Given the description of an element on the screen output the (x, y) to click on. 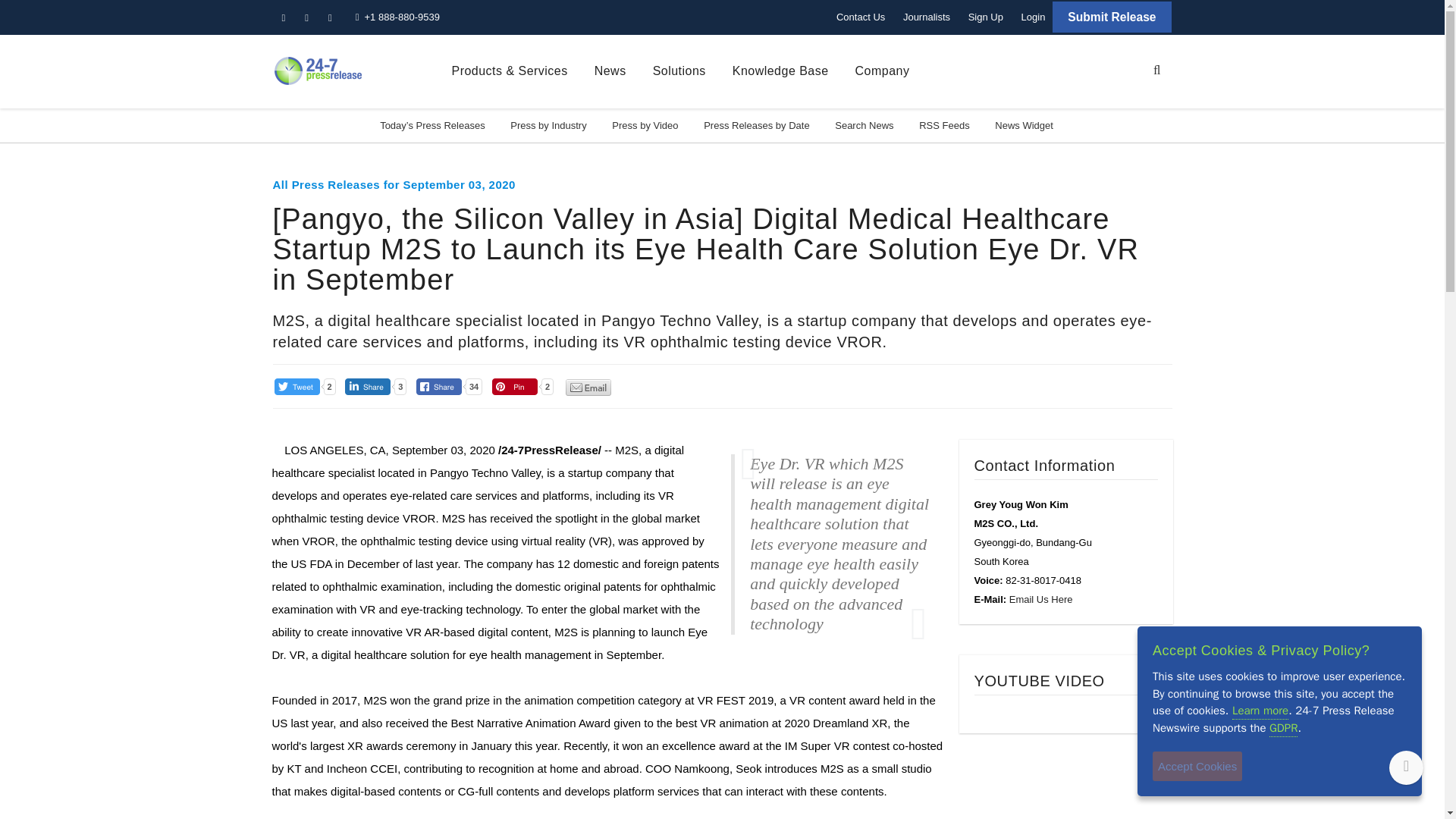
Company (882, 71)
Submit Release (1111, 16)
Sign Up (985, 16)
Journalists (926, 16)
Solutions (679, 71)
Contact Us (860, 16)
Login (1032, 16)
Knowledge Base (780, 71)
